Given the description of an element on the screen output the (x, y) to click on. 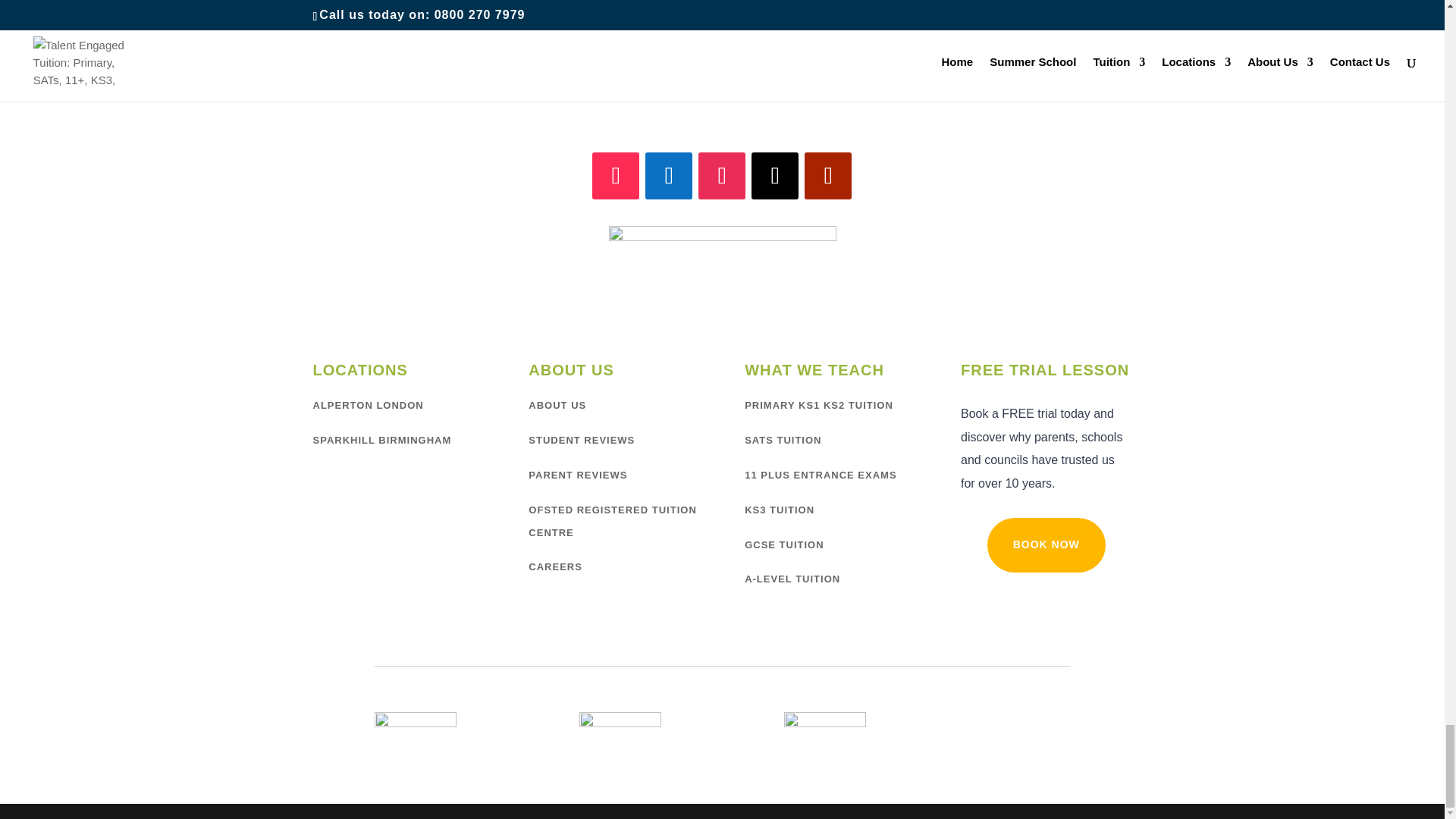
Follow on X (774, 175)
Follow on Facebook (669, 175)
Follow on Youtube (828, 175)
Follow on TikTok (615, 175)
Follow on Instagram (721, 175)
TE-Logo-21 (721, 280)
